Given the description of an element on the screen output the (x, y) to click on. 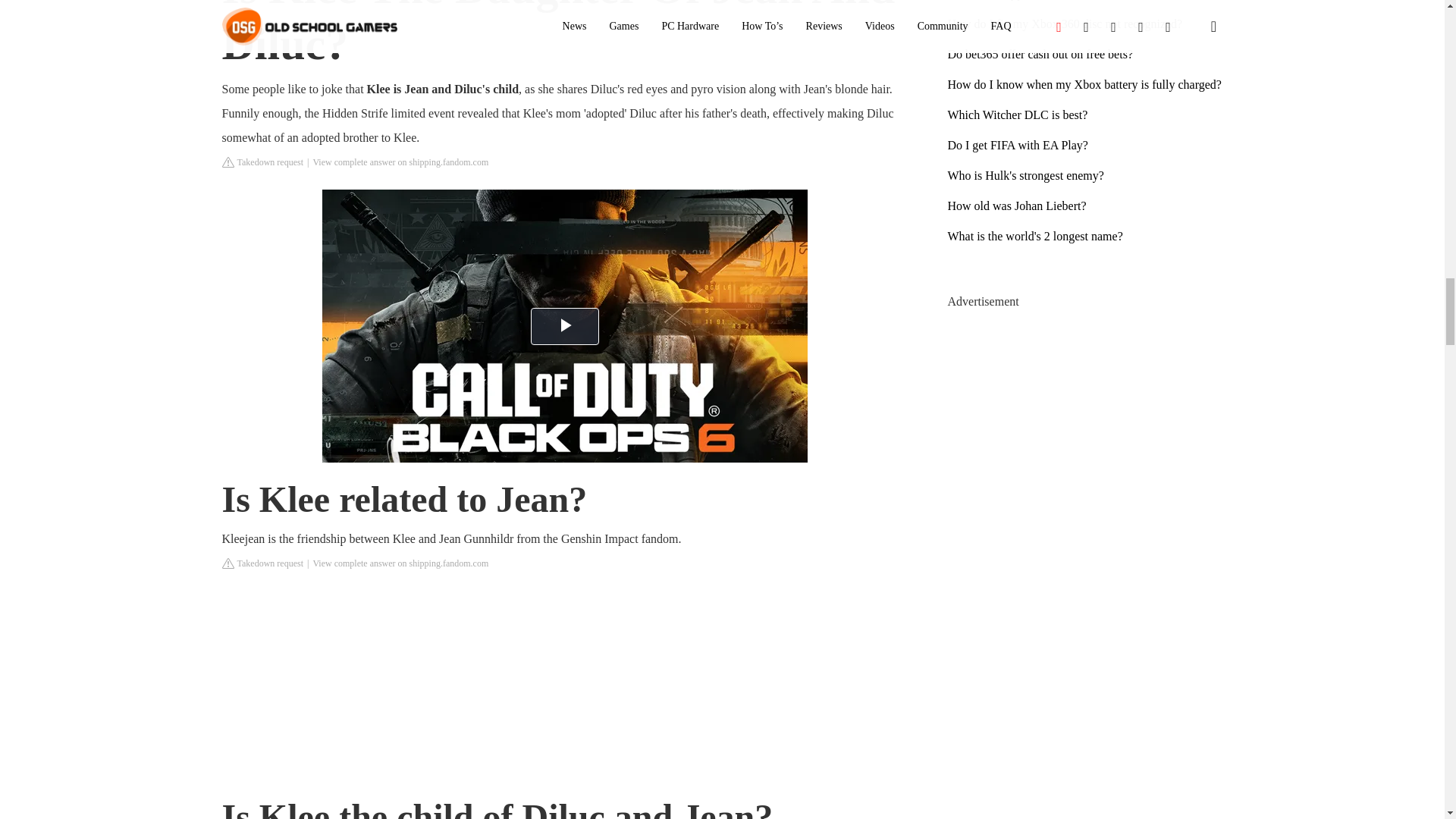
Play Video (564, 325)
